Given the description of an element on the screen output the (x, y) to click on. 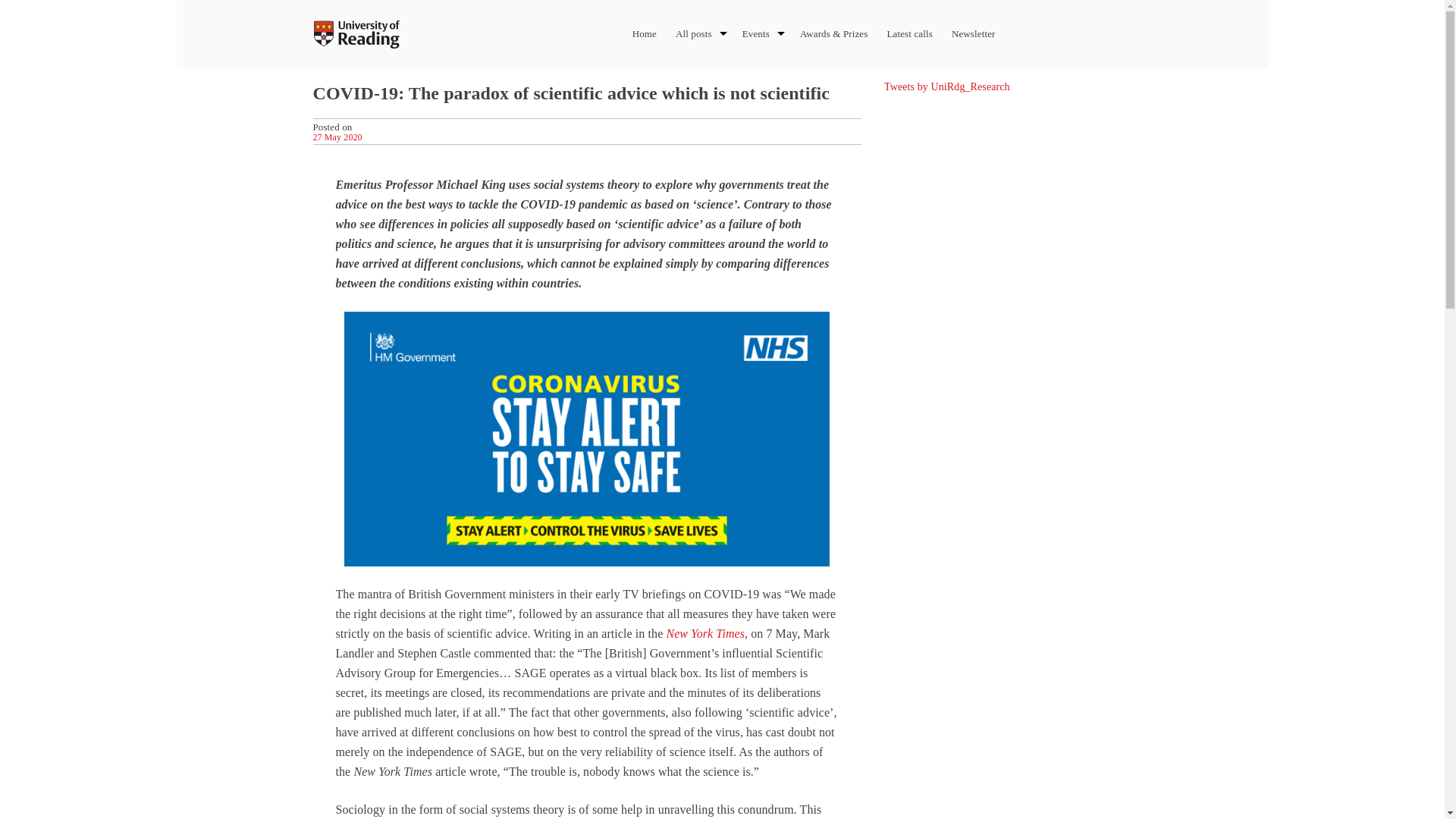
All posts (693, 33)
New York Times (704, 633)
Home (643, 33)
Latest calls (908, 33)
27 May 2020 (337, 136)
Events (756, 33)
Newsletter (973, 33)
